Given the description of an element on the screen output the (x, y) to click on. 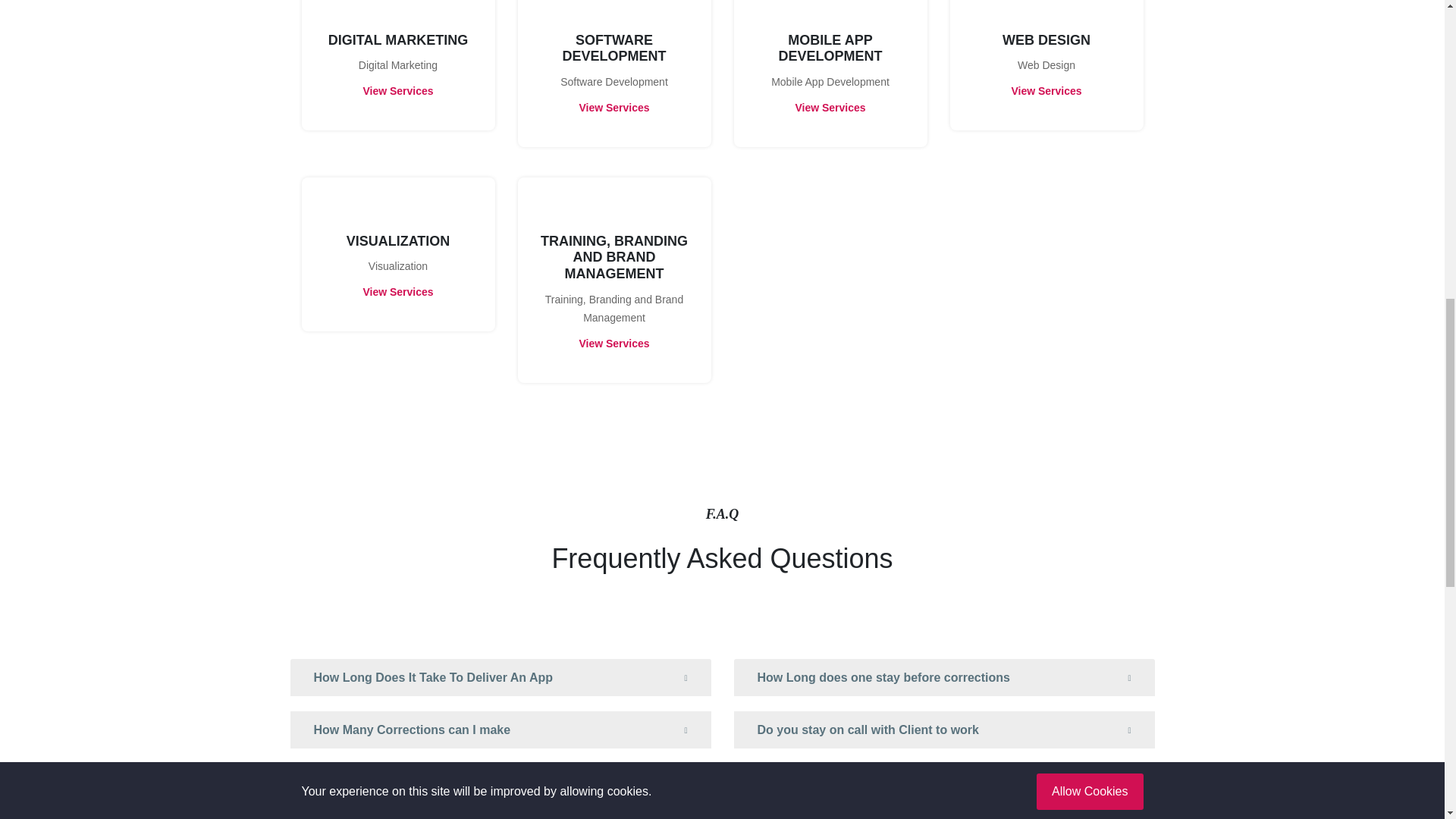
View Services (1045, 91)
View Services (613, 343)
How Long Does It Take To Deliver An App (499, 677)
View Services (397, 91)
Do you stay on call with Client to work (943, 730)
View Services (613, 107)
View Services (397, 291)
How Long does one stay before corrections (943, 677)
View Services (829, 107)
How Many Corrections can I make (499, 730)
